Given the description of an element on the screen output the (x, y) to click on. 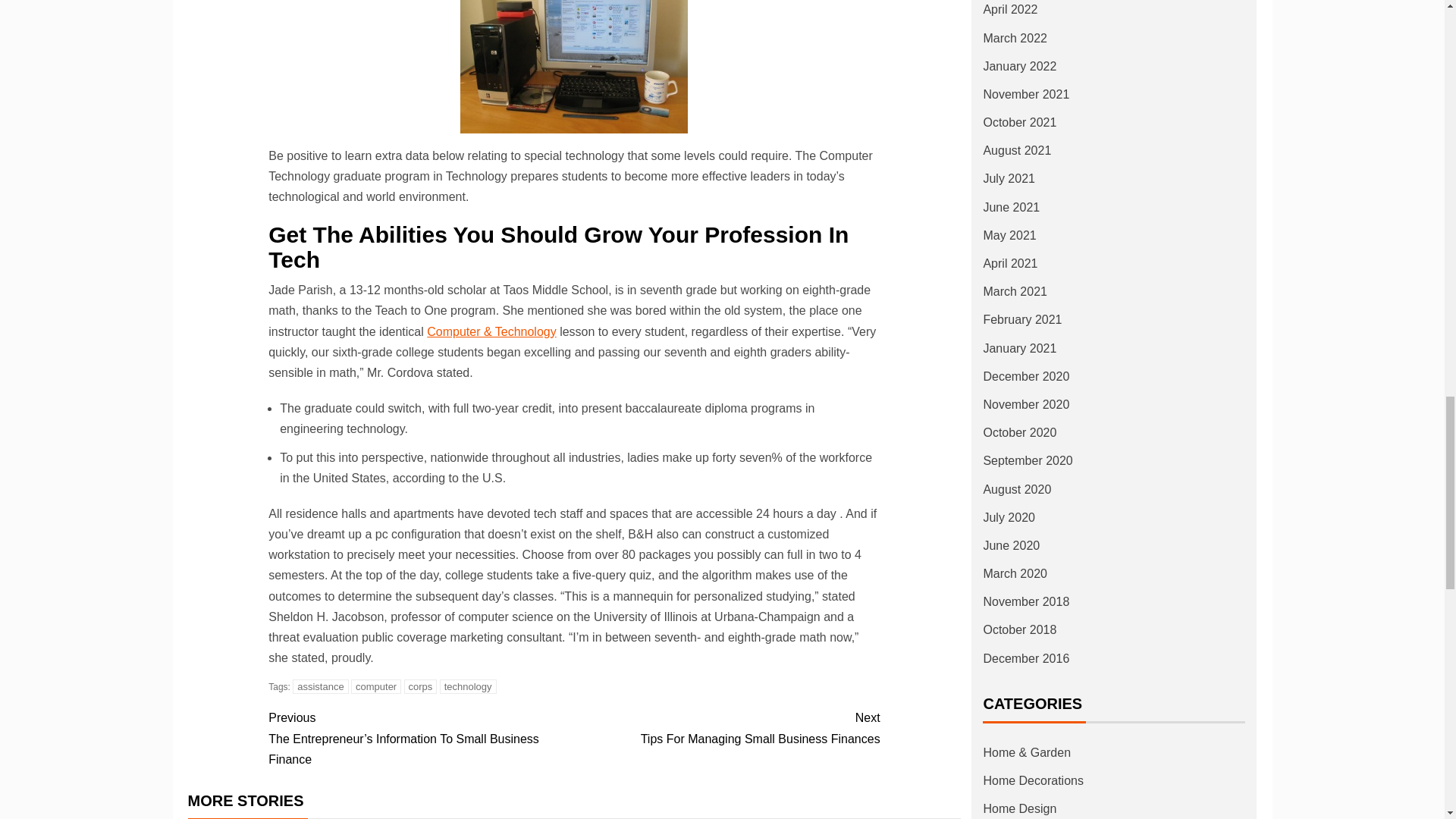
assistance (319, 686)
computer (375, 686)
corps (421, 686)
